Given the description of an element on the screen output the (x, y) to click on. 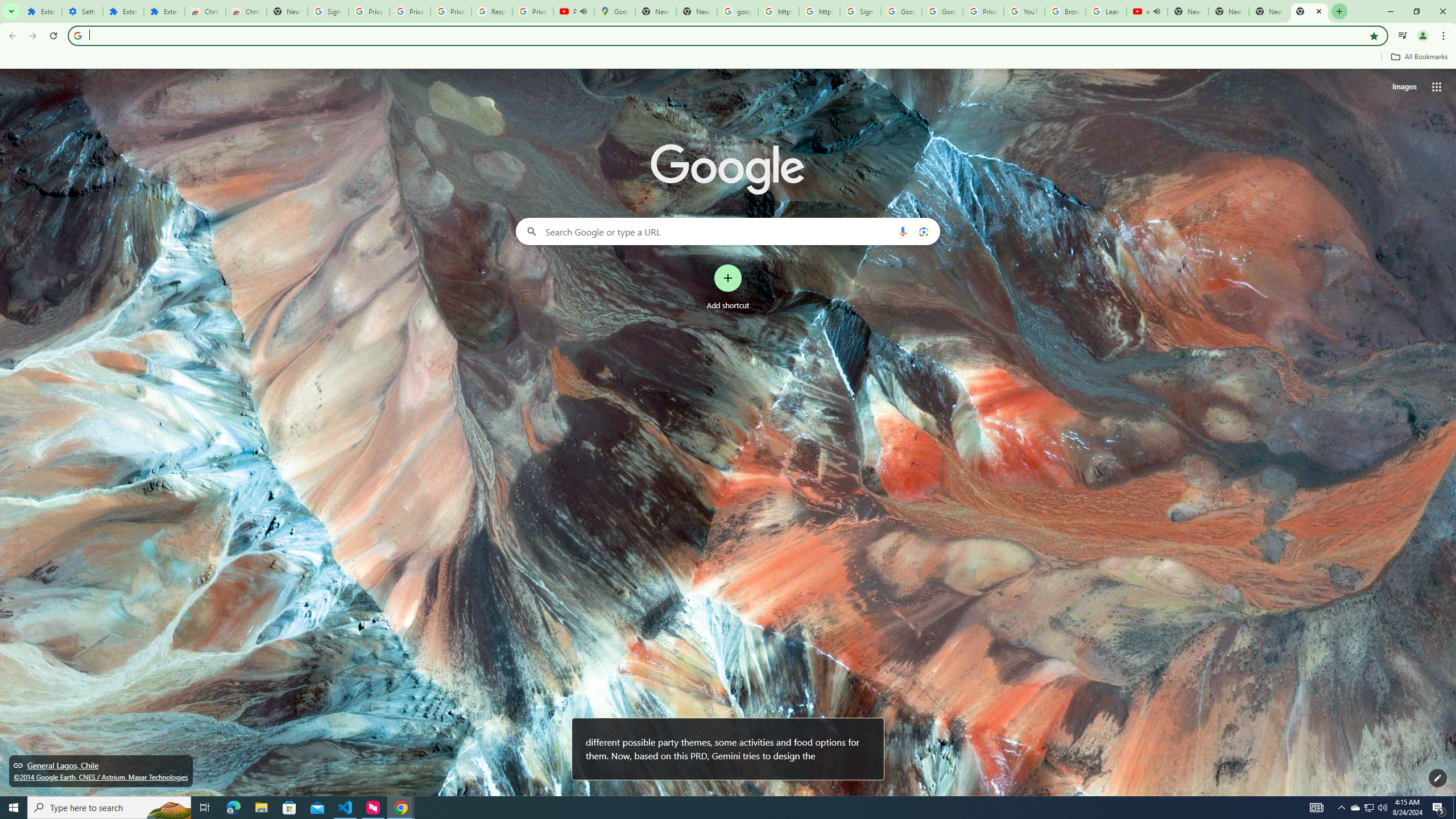
Customize this page (1437, 778)
Google Maps (614, 11)
Chrome Web Store - Themes (246, 11)
YouTube (1023, 11)
Extensions (163, 11)
